Given the description of an element on the screen output the (x, y) to click on. 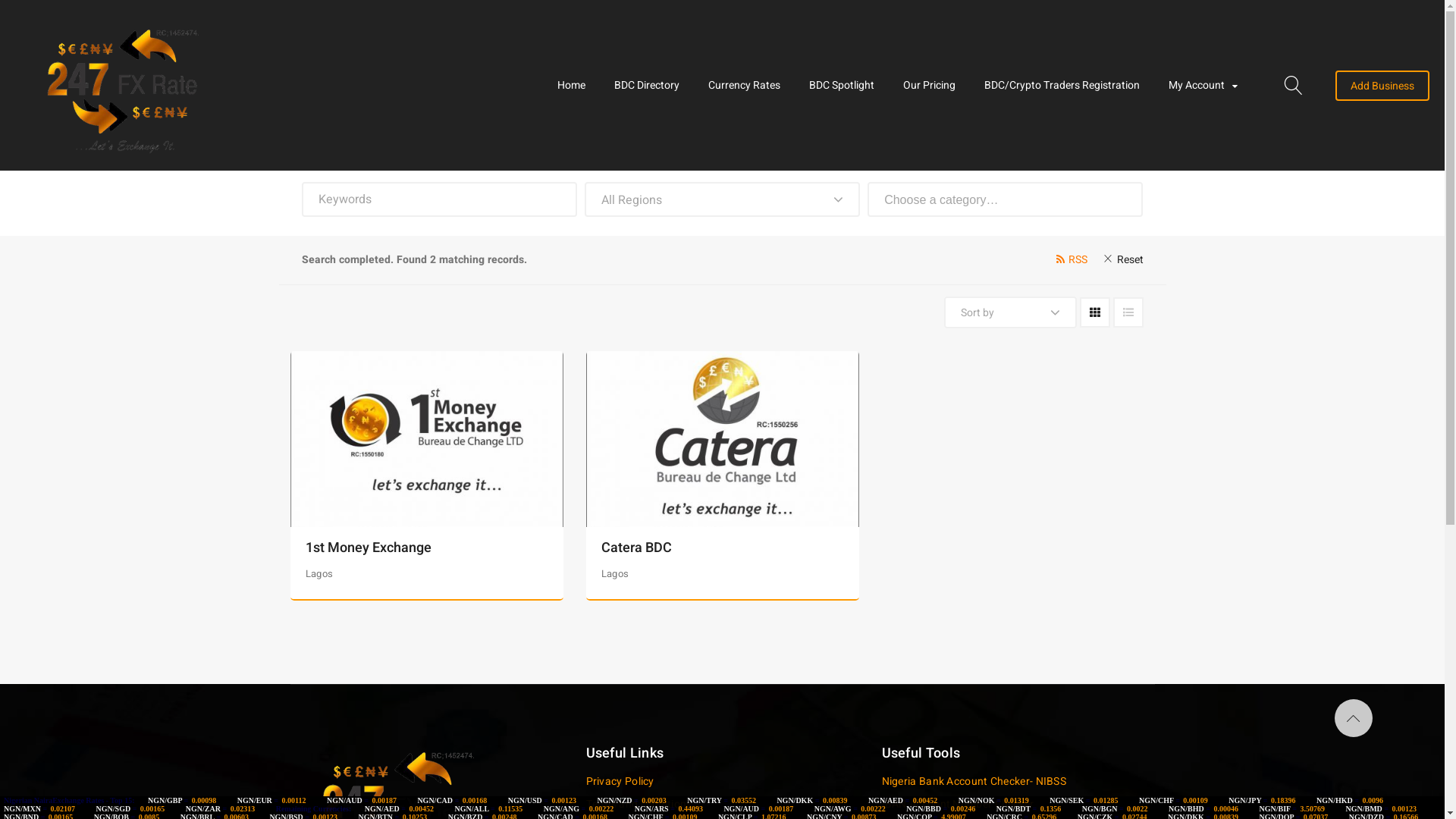
RSS Element type: text (1067, 260)
Nigeria Bank Account Checker- NIBSS Element type: text (973, 781)
Privacy Policy Element type: text (619, 781)
Our Pricing Element type: text (929, 85)
Reset Element type: text (1119, 260)
Currency Rates Element type: text (744, 85)
IBAN Account Number Checker Element type: text (957, 804)
Catera BDC Element type: text (635, 547)
BDC/Crypto Traders Registration Element type: text (1061, 85)
Home Element type: text (571, 85)
247FXrate - Your No1 BDC directory in Nigeria Element type: hover (227, 85)
My Account Element type: text (1202, 85)
Sort by Element type: text (1009, 312)
All Regions Element type: text (721, 199)
1st Money Exchange Element type: text (367, 547)
BDC Directory Element type: text (646, 85)
BDC Spotlight Element type: text (841, 85)
Add Business Element type: text (1382, 84)
Terms and conditions Element type: text (638, 804)
